Given the description of an element on the screen output the (x, y) to click on. 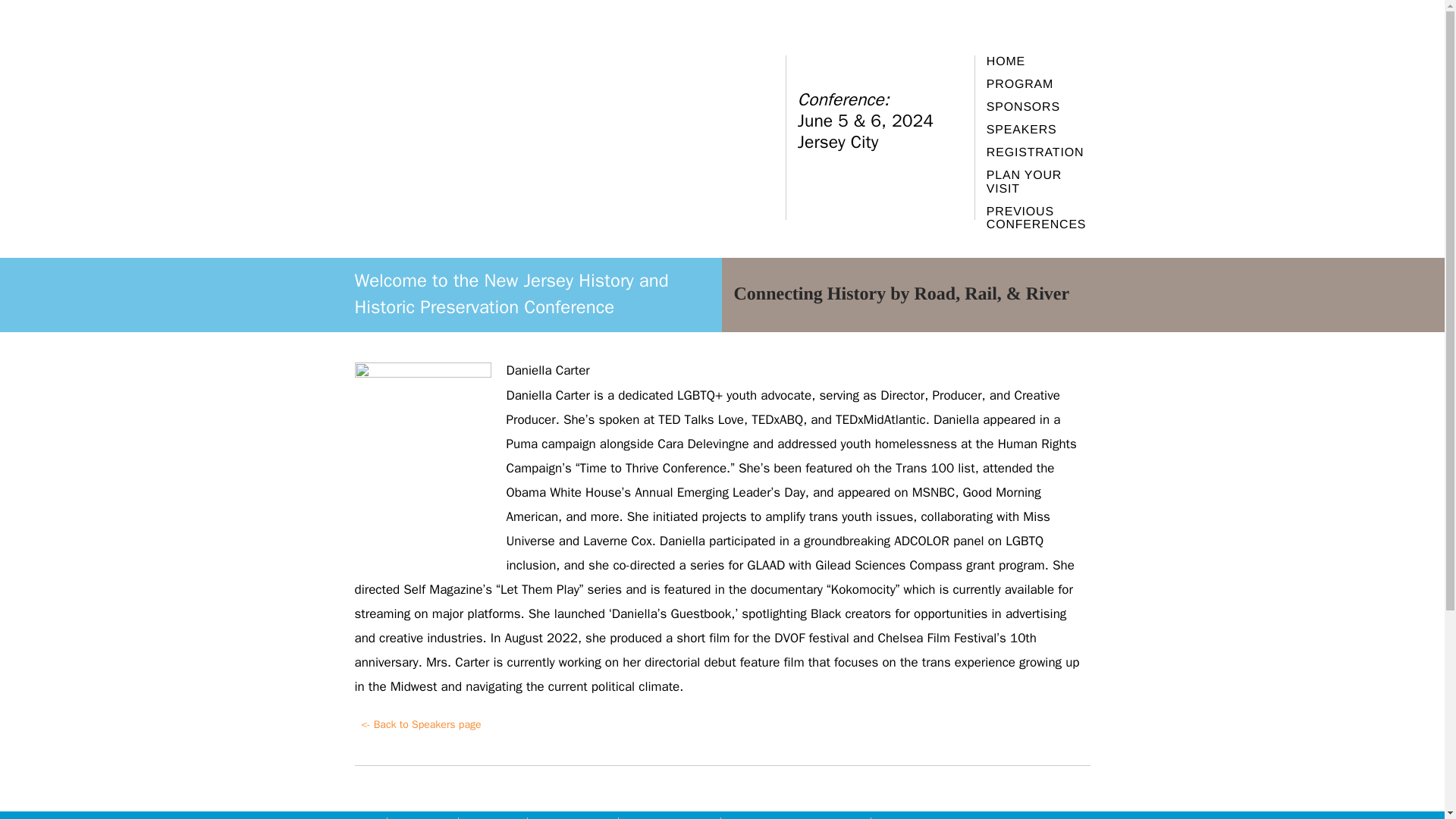
SPONSORS (1038, 107)
SPONSORS (422, 818)
BACK TO TOP (911, 818)
PLAN YOUR VISIT (1038, 182)
HOME (1038, 61)
REGISTRATION (1038, 152)
PREVIOUS CONFERENCES (1038, 217)
SPEAKERS (492, 818)
REGISTRATION (572, 818)
